Given the description of an element on the screen output the (x, y) to click on. 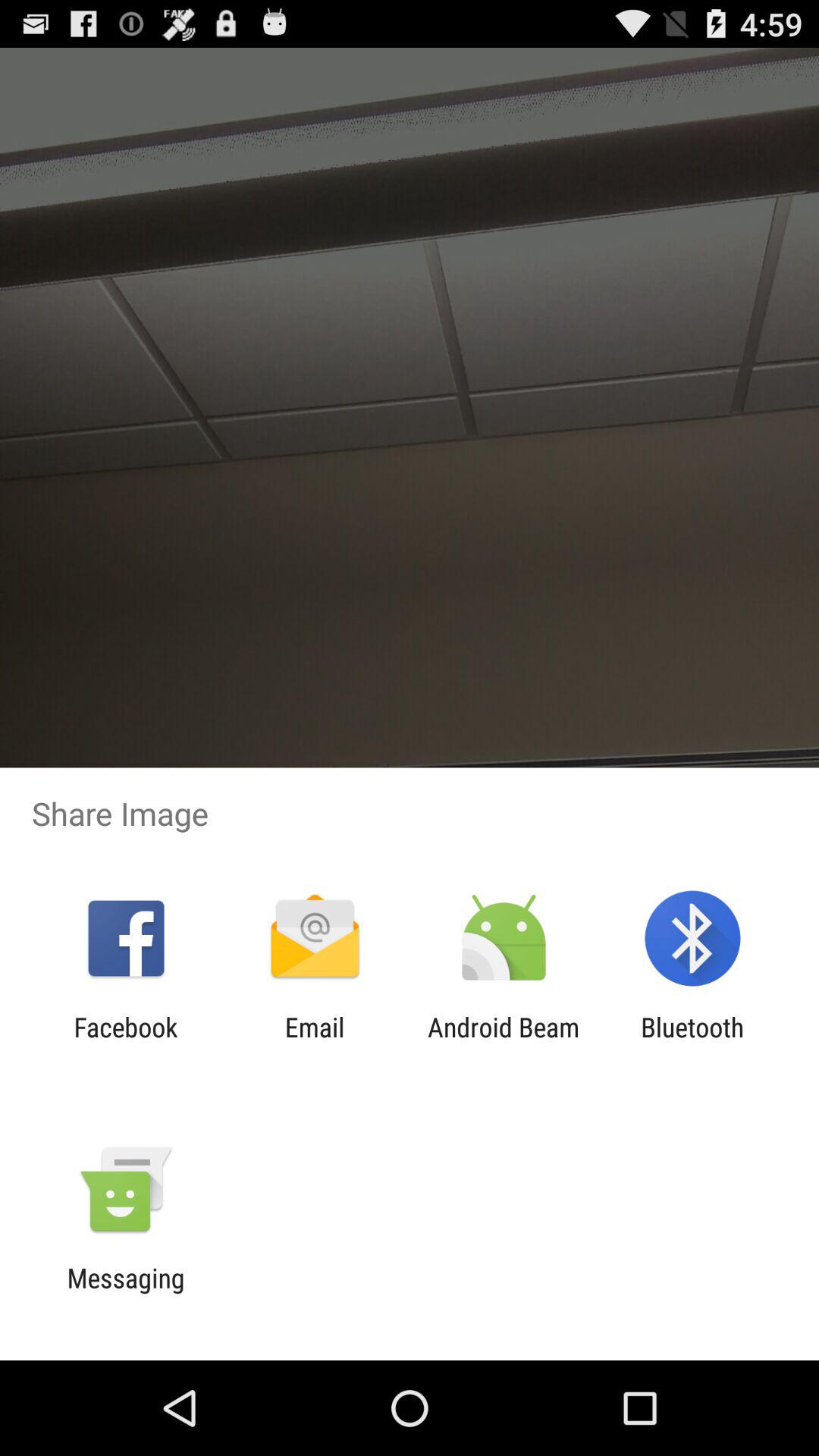
open the icon to the right of android beam item (691, 1042)
